Given the description of an element on the screen output the (x, y) to click on. 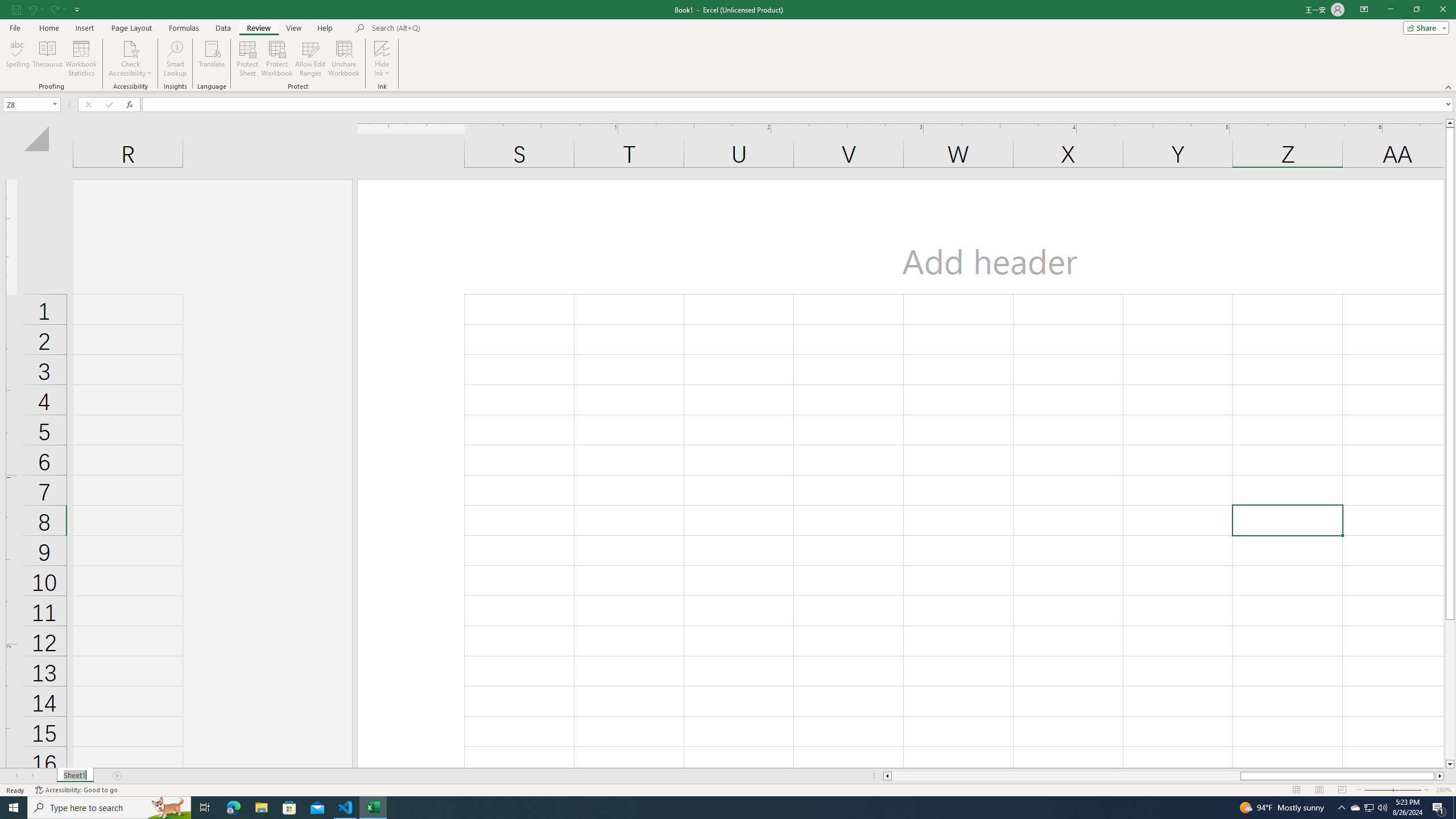
Check Accessibility (129, 48)
Spelling... (17, 58)
